Given the description of an element on the screen output the (x, y) to click on. 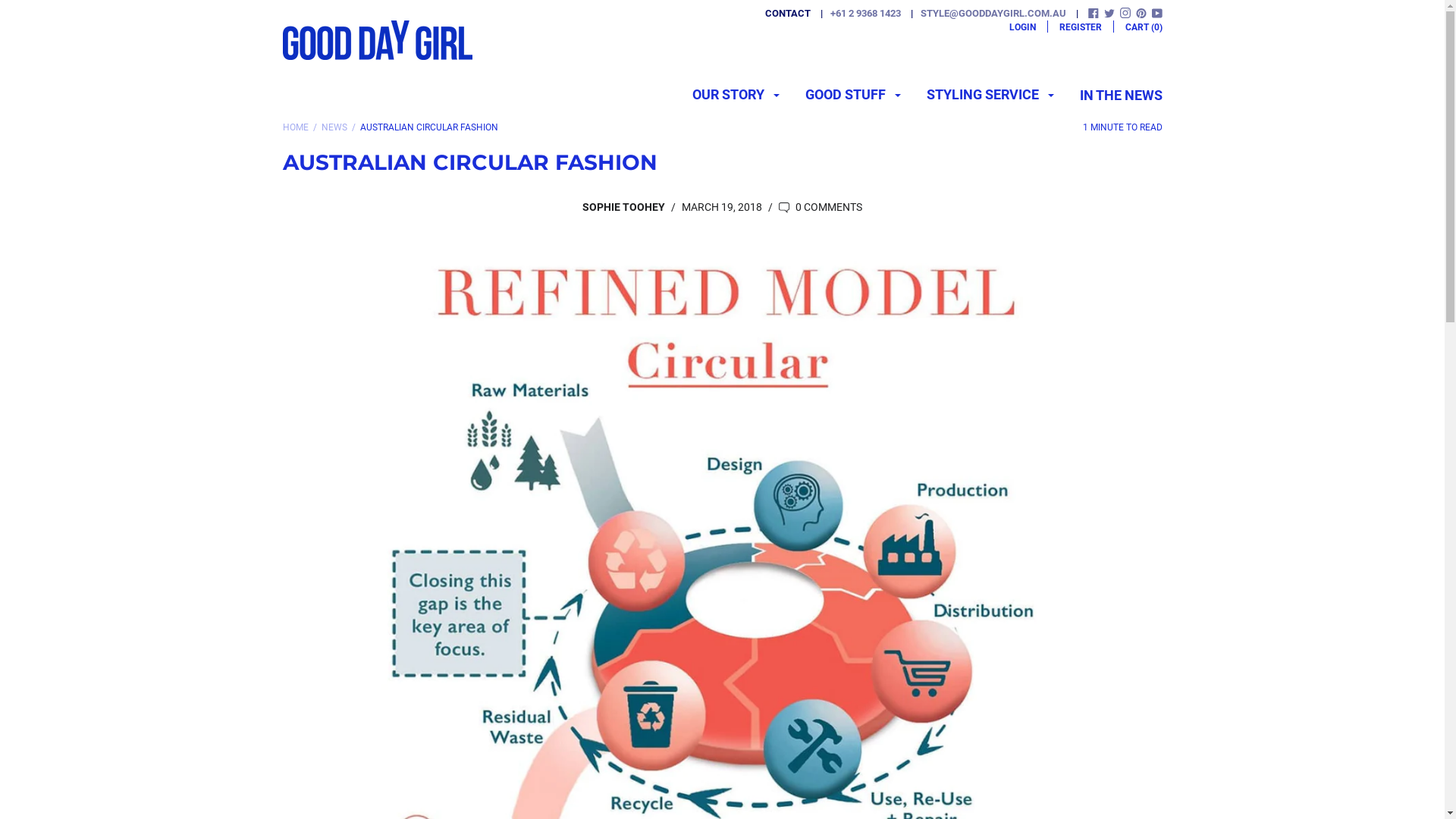
LOGIN Element type: text (1021, 26)
Twitter Element type: text (1109, 14)
STYLE@GOODDAYGIRL.COM.AU Element type: text (983, 13)
0 COMMENTS Element type: text (820, 206)
YouTube Element type: text (1156, 14)
STYLING SERVICE Element type: text (990, 96)
Instagram Element type: text (1124, 14)
Facebook Element type: text (1092, 14)
CART (0) Element type: text (1143, 26)
GOOD STUFF Element type: text (852, 96)
OUR STORY Element type: text (734, 96)
Pinterest Element type: text (1140, 14)
REGISTER Element type: text (1079, 26)
NEWS Element type: text (334, 127)
HOME Element type: text (294, 127)
IN THE NEWS Element type: text (1120, 95)
